Given the description of an element on the screen output the (x, y) to click on. 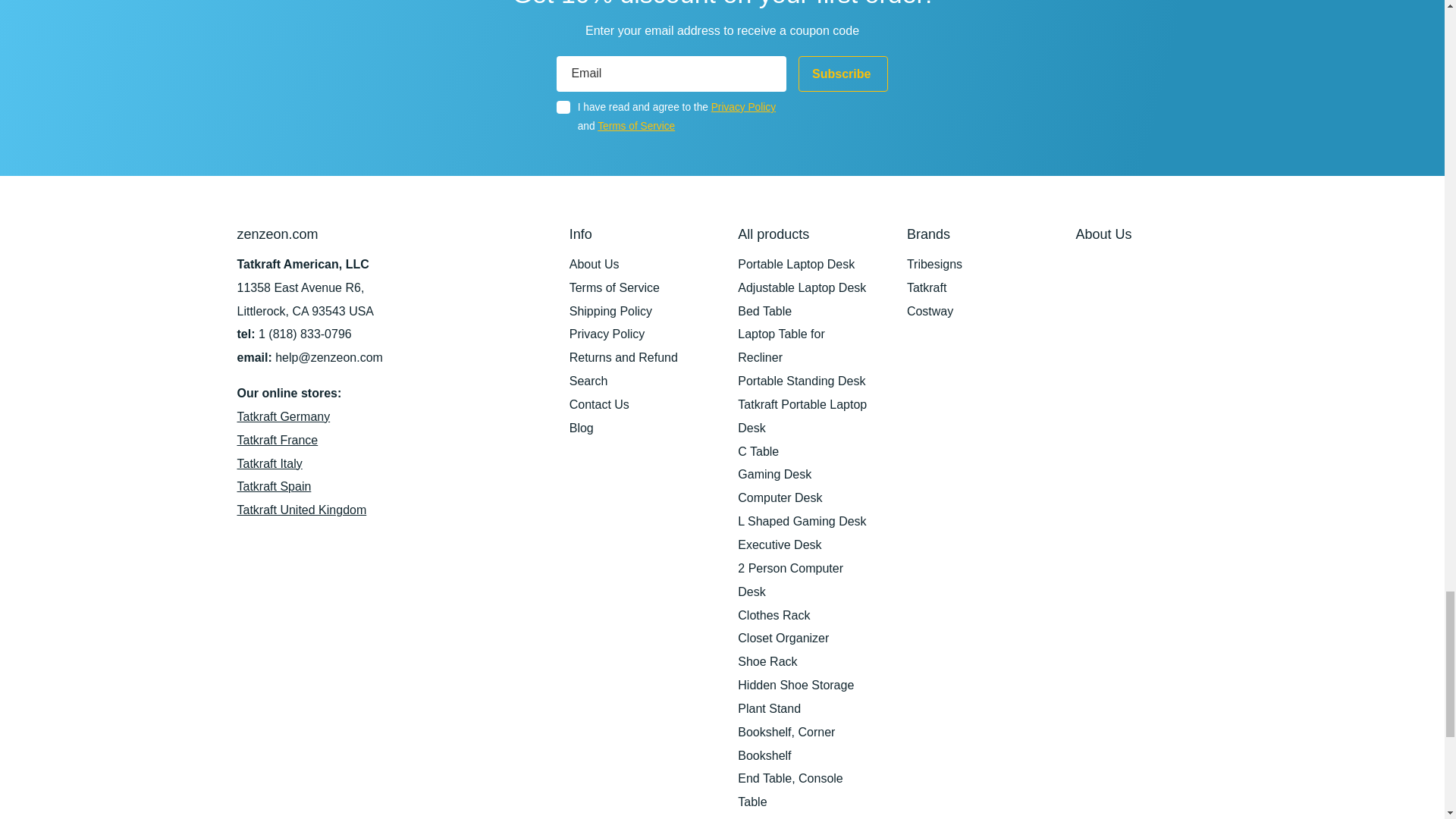
Portable Laptop Desk (796, 264)
TatkraftShop.eu (282, 416)
About Us (594, 264)
Search (588, 380)
Adjustable Laptop Desk (802, 287)
Privacy Policy (607, 333)
TatkraftShop.es (273, 486)
Terms of Service (635, 125)
TatkraftShop.fr (276, 440)
Blog (581, 427)
